Given the description of an element on the screen output the (x, y) to click on. 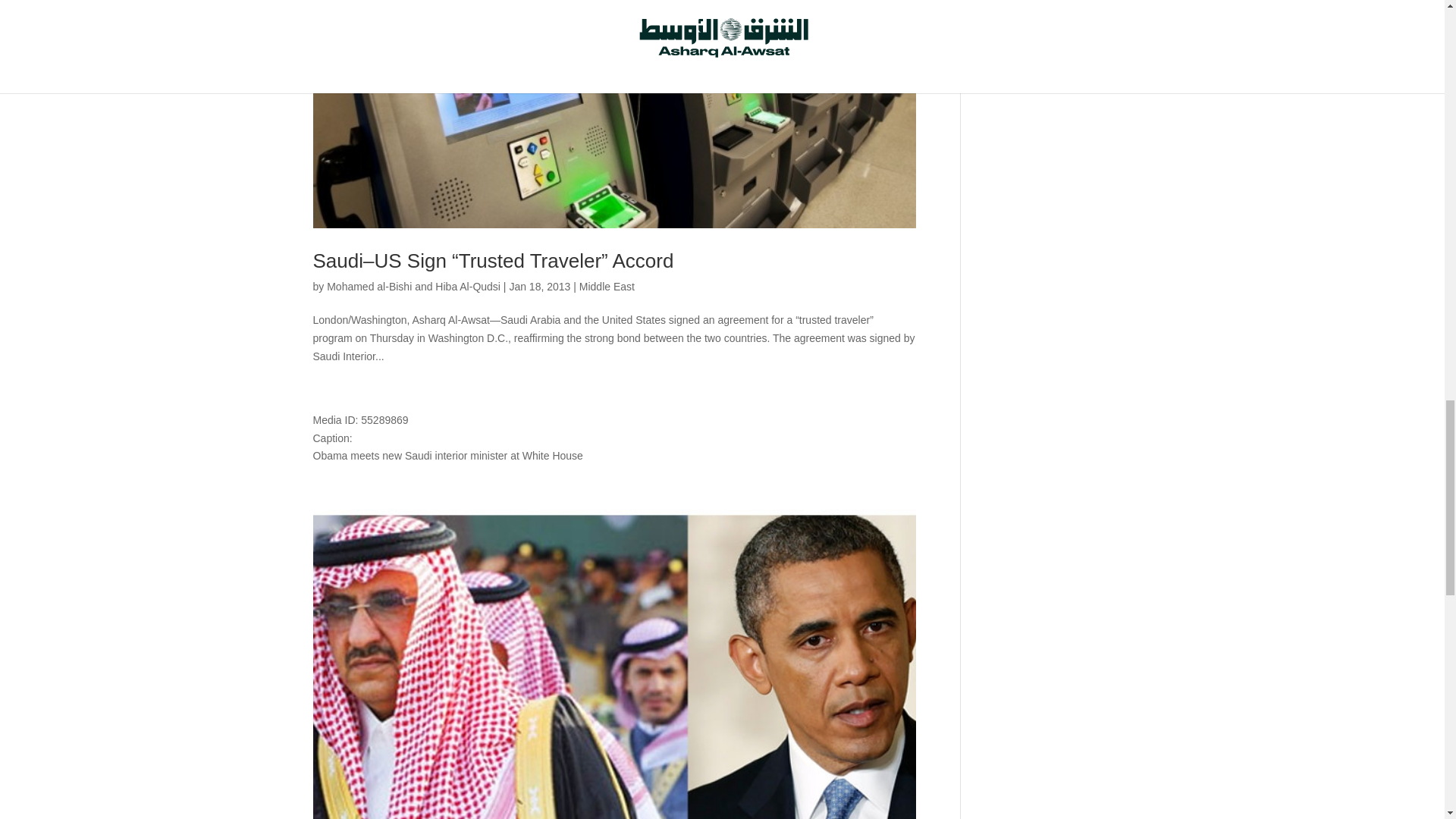
Posts by Mohamed al-Bishi and Hiba Al-Qudsi (413, 286)
Middle East (606, 286)
Mohamed al-Bishi and Hiba Al-Qudsi (413, 286)
